Given the description of an element on the screen output the (x, y) to click on. 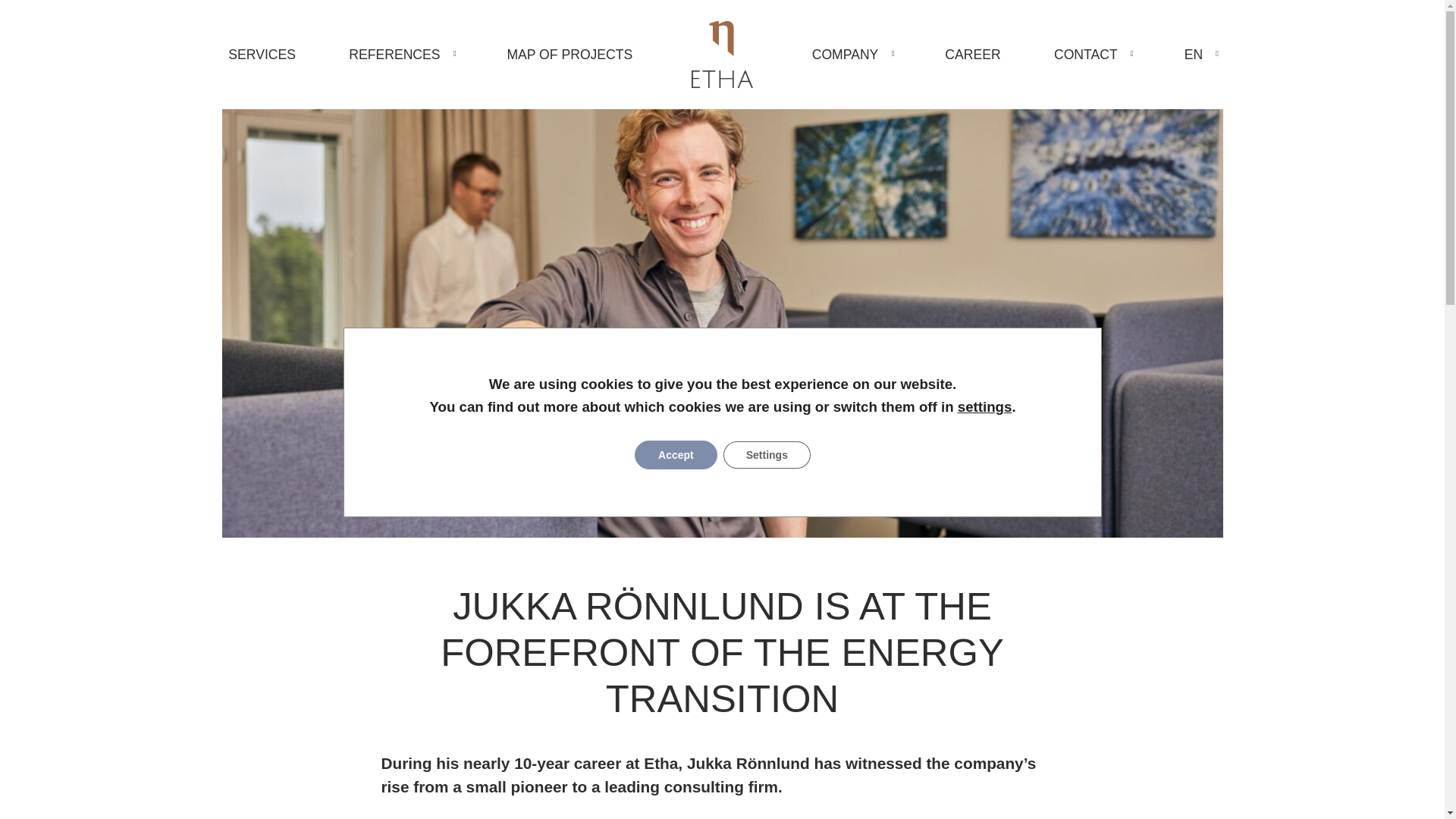
Settings (765, 454)
COMPANY (851, 54)
CAREER (973, 54)
EN (1200, 54)
SERVICES (261, 54)
settings (983, 406)
MAP OF PROJECTS (569, 54)
Accept (675, 454)
REFERENCES (401, 54)
CONTACT (1091, 54)
